Given the description of an element on the screen output the (x, y) to click on. 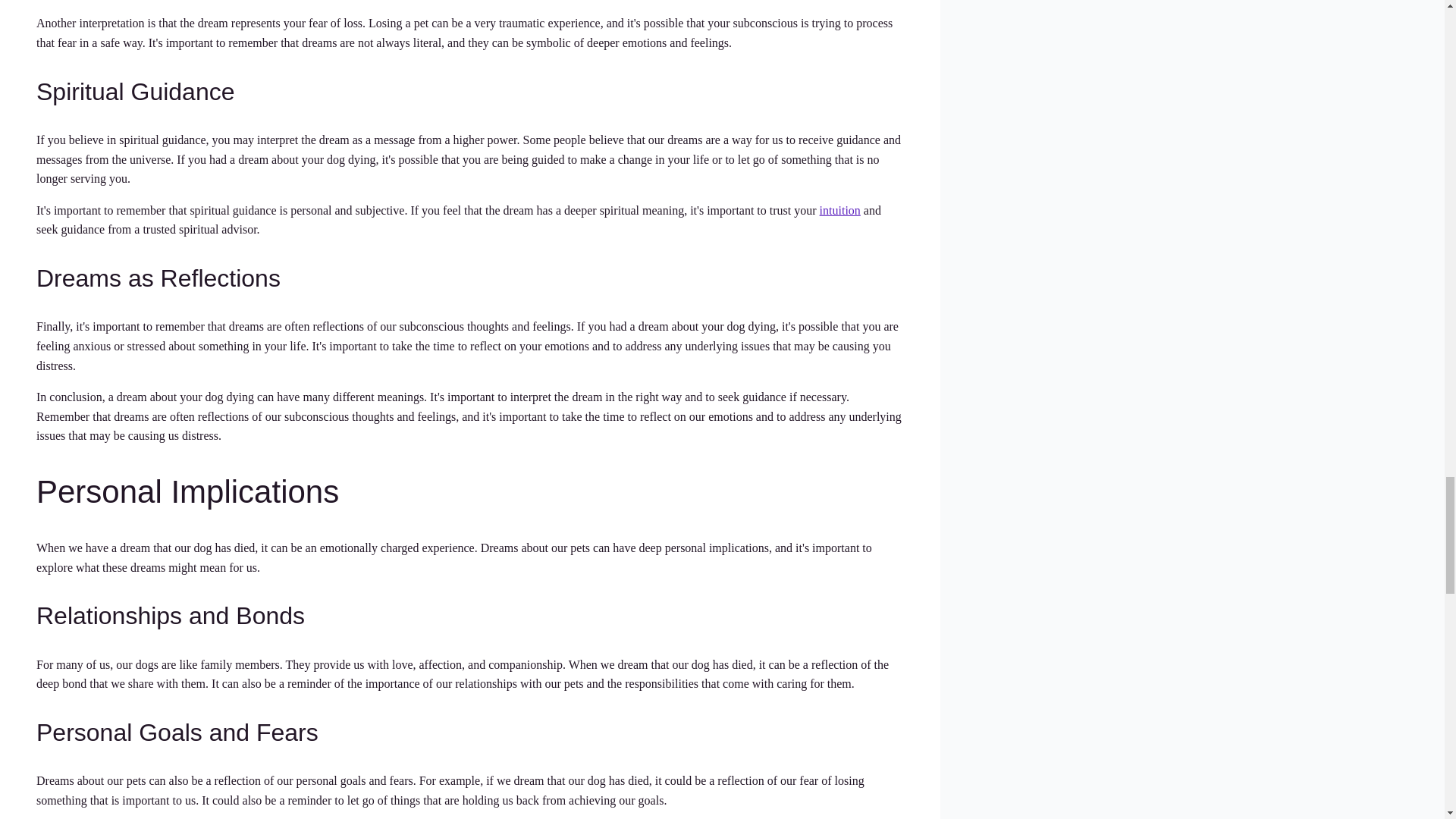
intuition (839, 210)
Posts About Intuition (839, 210)
